Given the description of an element on the screen output the (x, y) to click on. 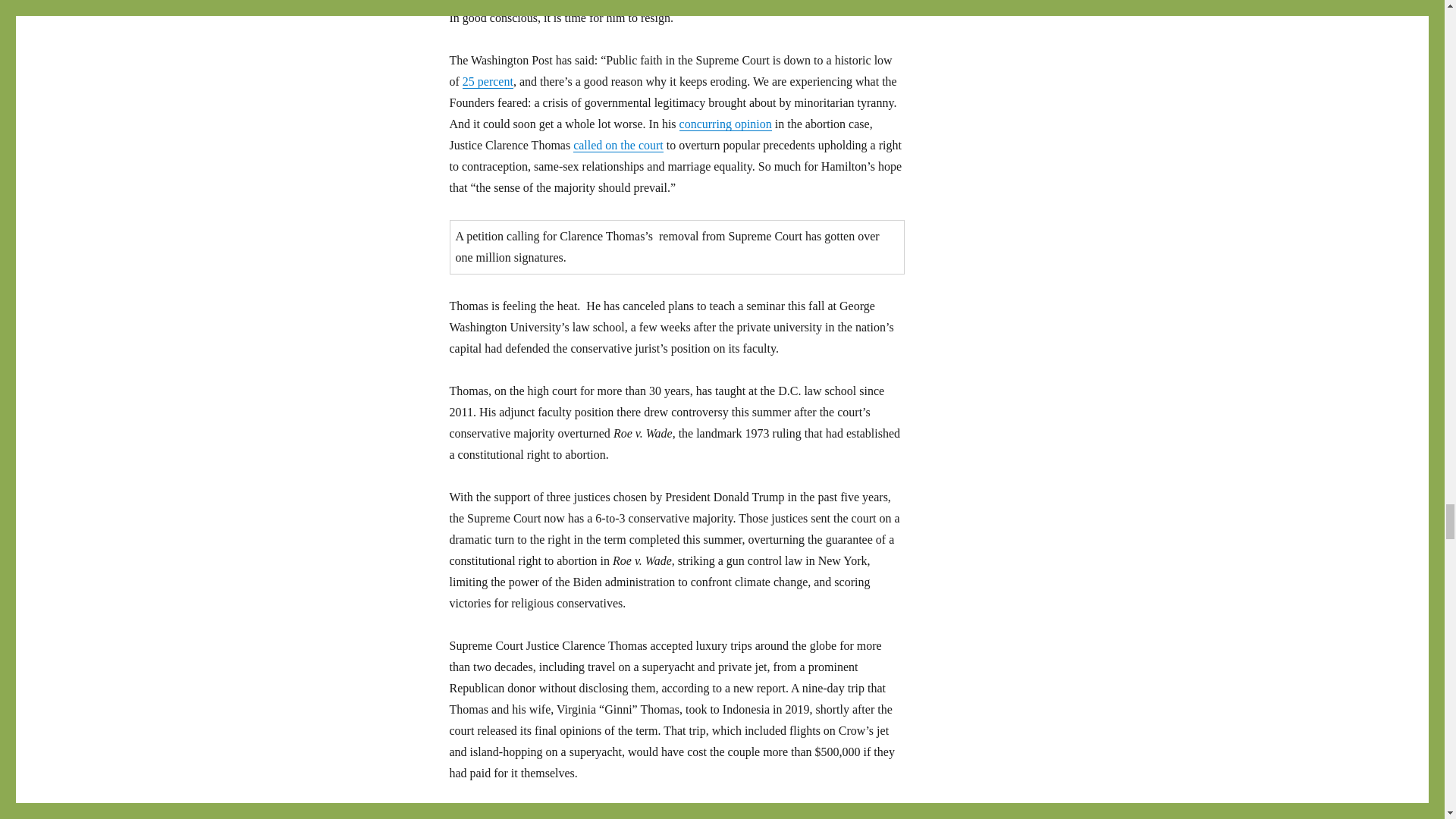
called on the court (618, 144)
concurring opinion (725, 123)
25 percent (488, 81)
